Given the description of an element on the screen output the (x, y) to click on. 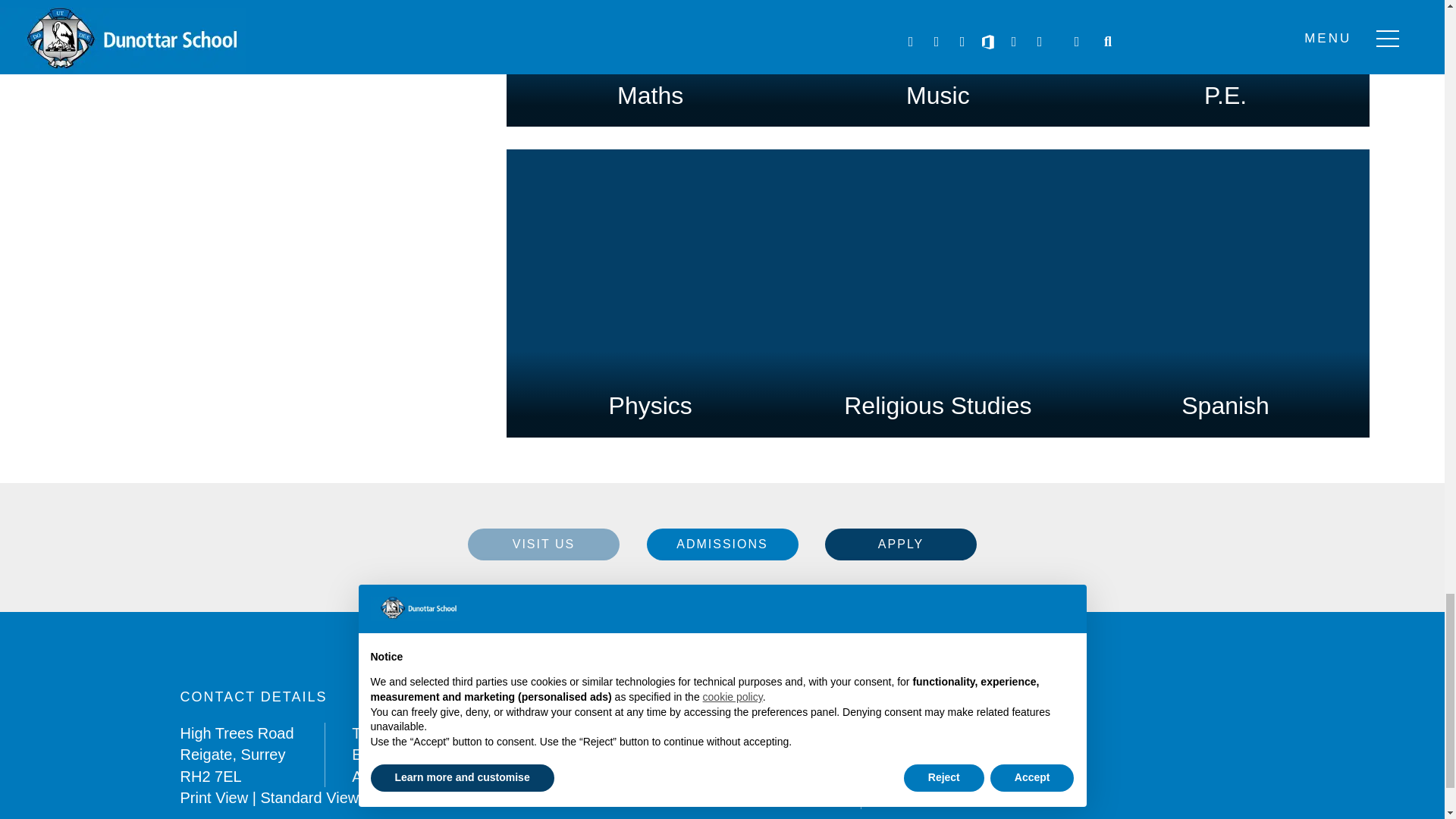
Switch to Print (214, 797)
Switch to Standard Visibility (309, 797)
Switch to High Visibility (416, 797)
